Given the description of an element on the screen output the (x, y) to click on. 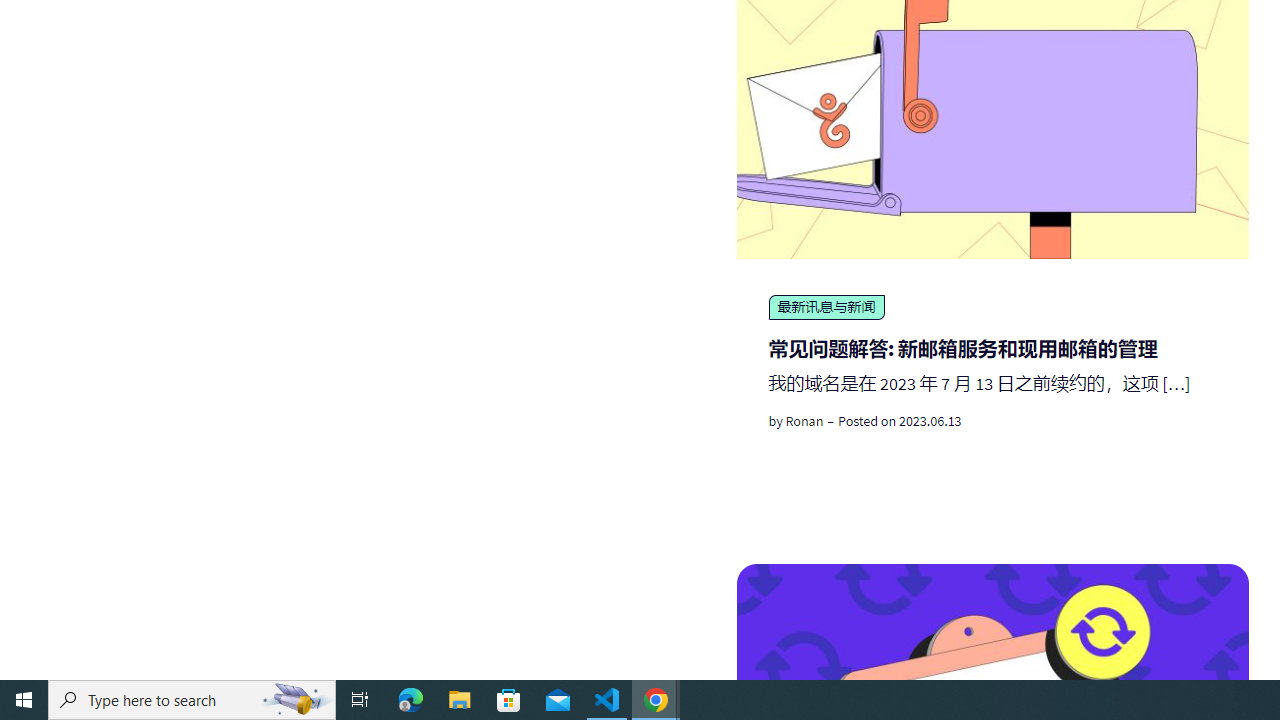
Ronan (804, 421)
